Given the description of an element on the screen output the (x, y) to click on. 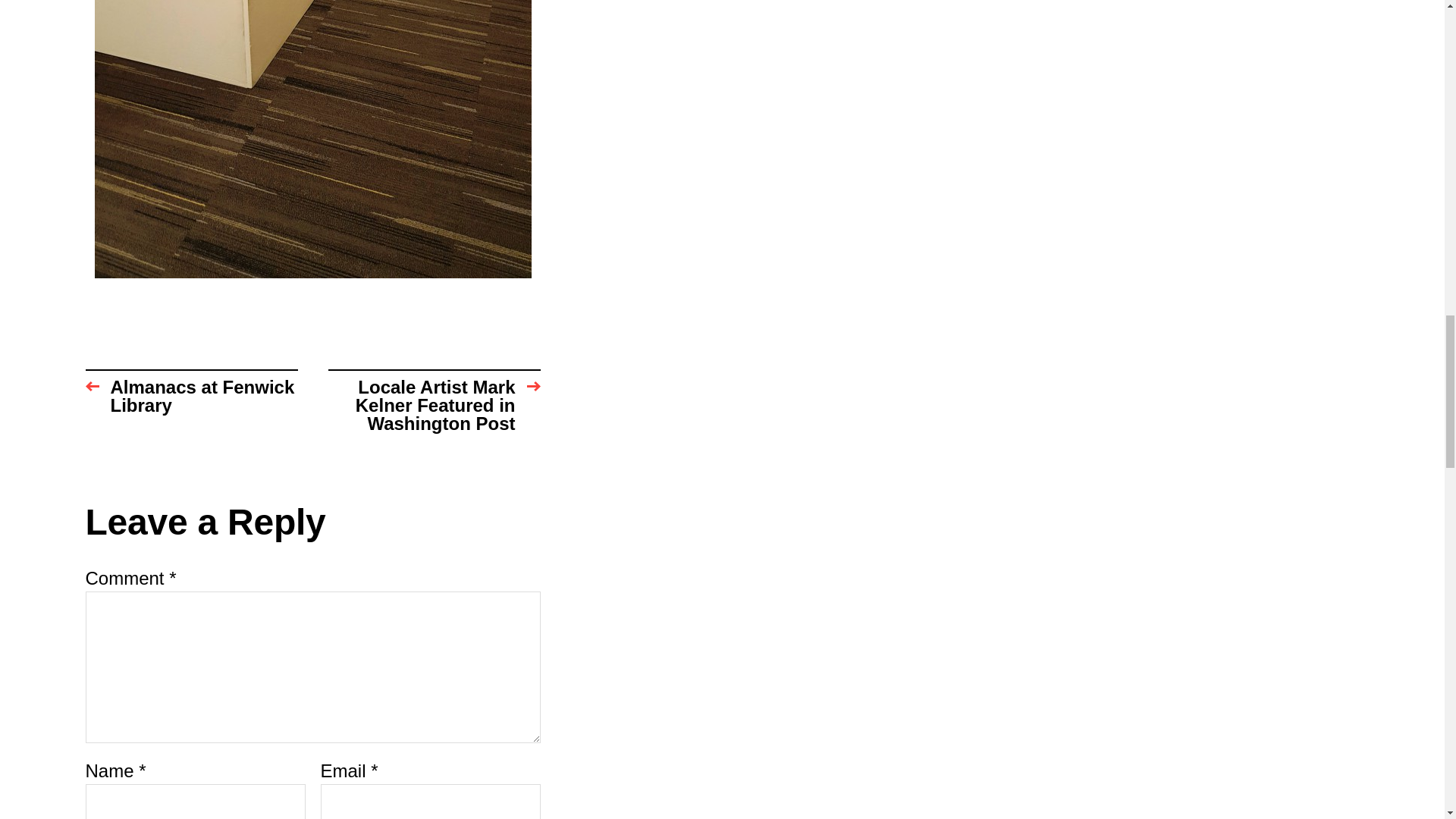
Locale Artist Mark Kelner Featured in Washington Post (433, 401)
Almanacs at Fenwick Library (190, 401)
